Given the description of an element on the screen output the (x, y) to click on. 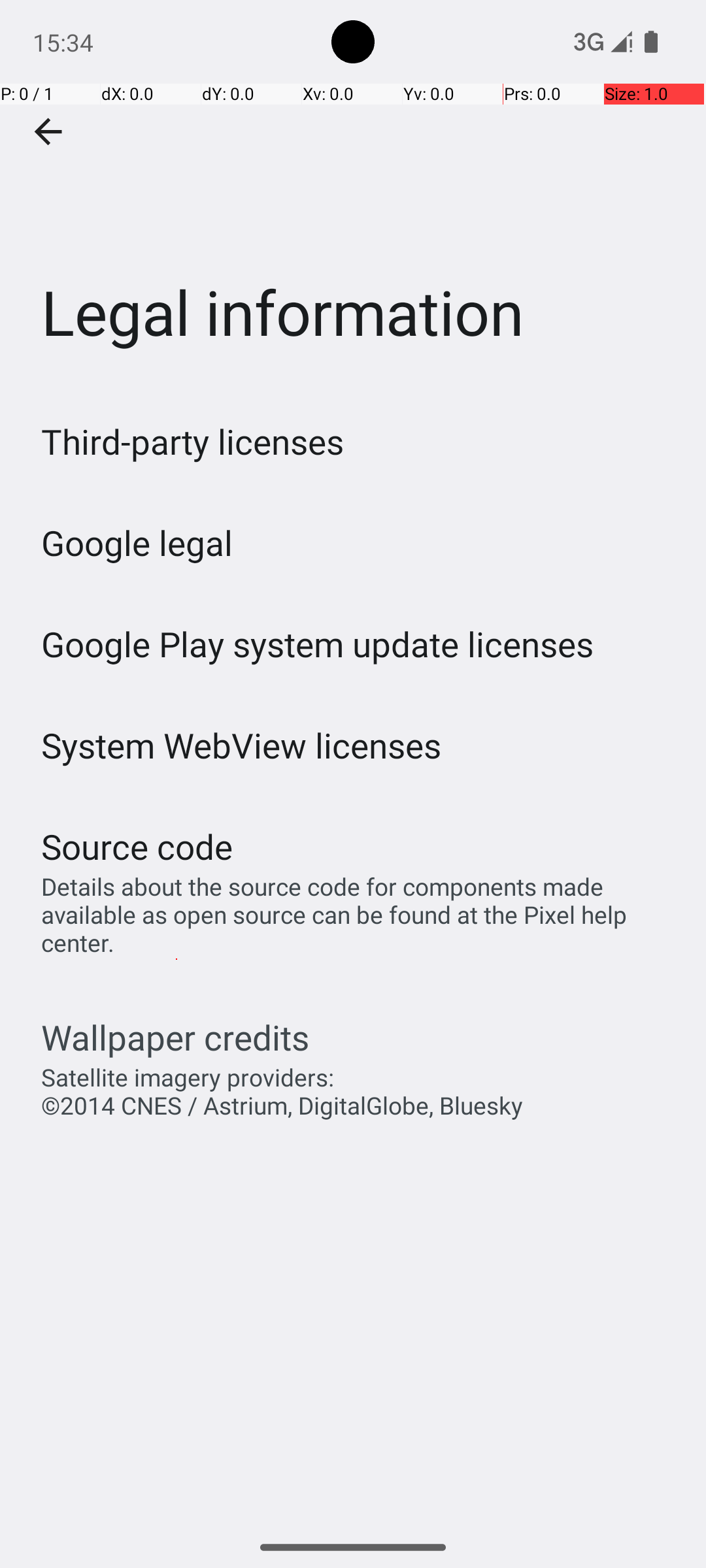
Legal information Element type: android.widget.FrameLayout (353, 195)
Third-party licenses Element type: android.widget.TextView (192, 441)
Google legal Element type: android.widget.TextView (136, 542)
Google Play system update licenses Element type: android.widget.TextView (317, 643)
System WebView licenses Element type: android.widget.TextView (241, 744)
Source code Element type: android.widget.TextView (136, 846)
Details about the source code for components made available as open source can be found at the Pixel help center. Element type: android.widget.TextView (359, 914)
Wallpaper credits Element type: android.widget.TextView (175, 1036)
Satellite imagery providers:
©2014 CNES / Astrium, DigitalGlobe, Bluesky Element type: android.widget.TextView (281, 1090)
